Given the description of an element on the screen output the (x, y) to click on. 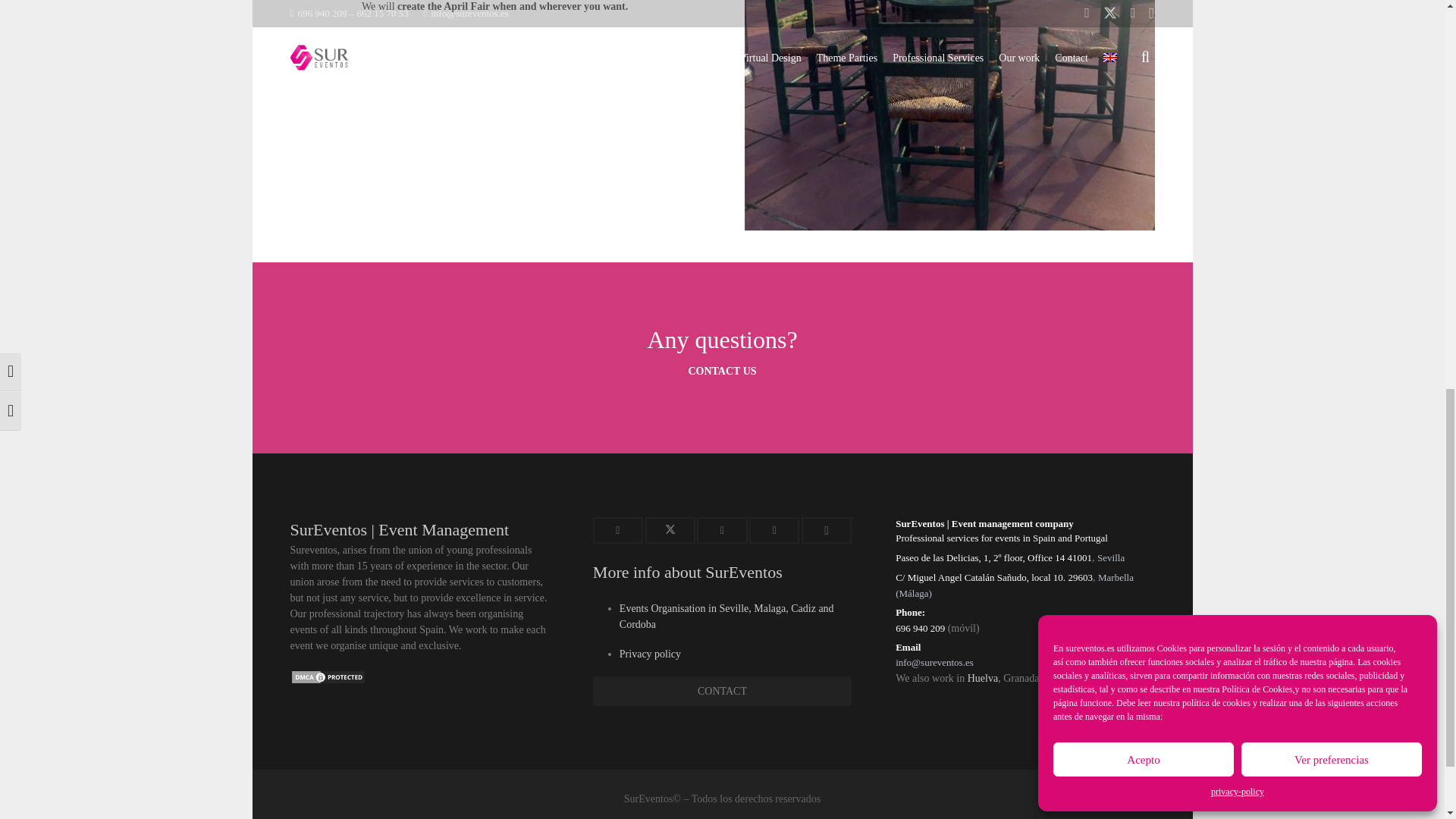
CONTACT (721, 690)
